Given the description of an element on the screen output the (x, y) to click on. 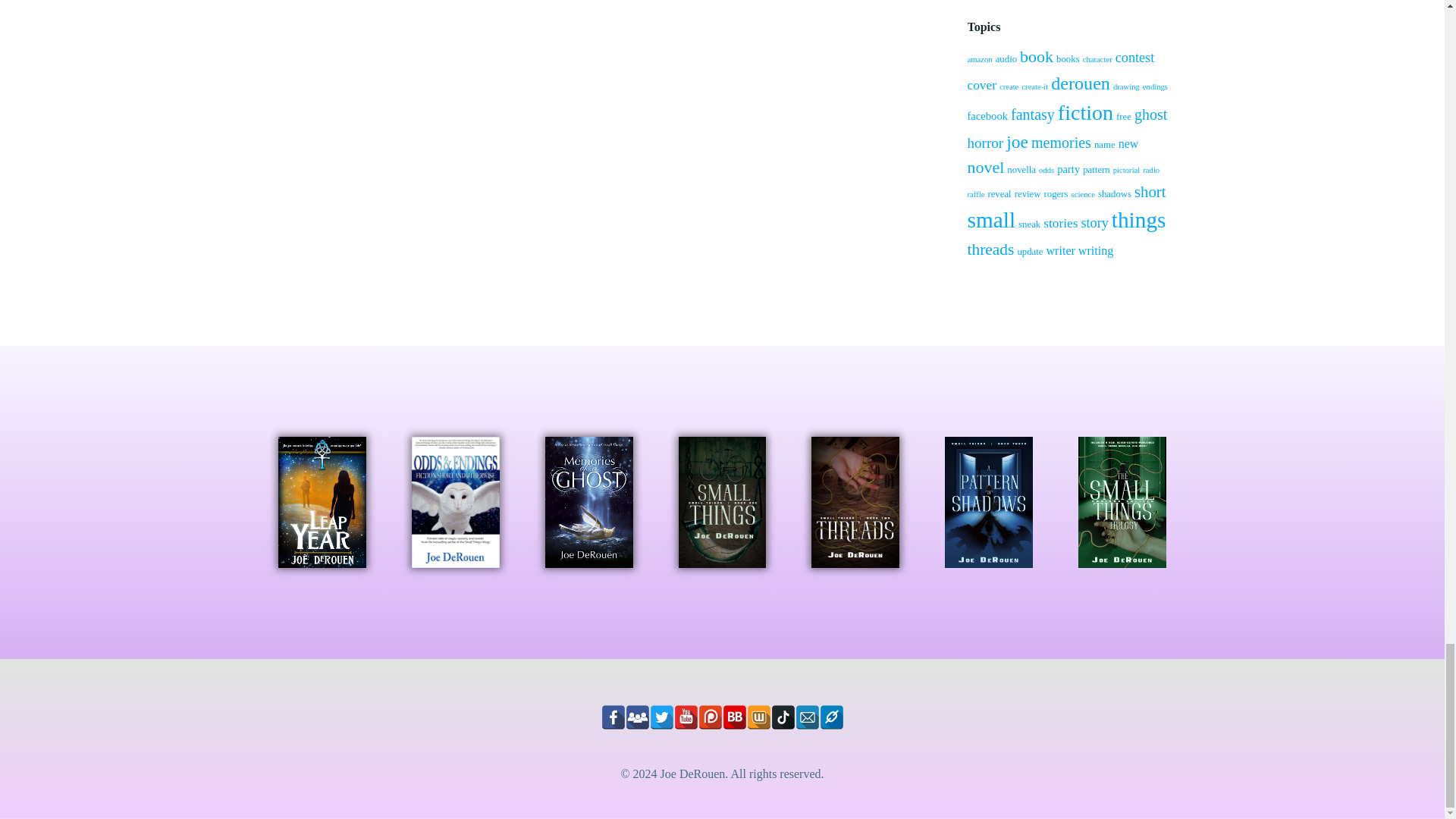
Personal website (830, 717)
BookBub (733, 717)
YouTube (684, 717)
Wattpad (757, 717)
TikTok (782, 717)
Facebook Group (636, 717)
Facebook (611, 717)
Twitter (660, 717)
Patreon (709, 717)
Email (806, 717)
